Given the description of an element on the screen output the (x, y) to click on. 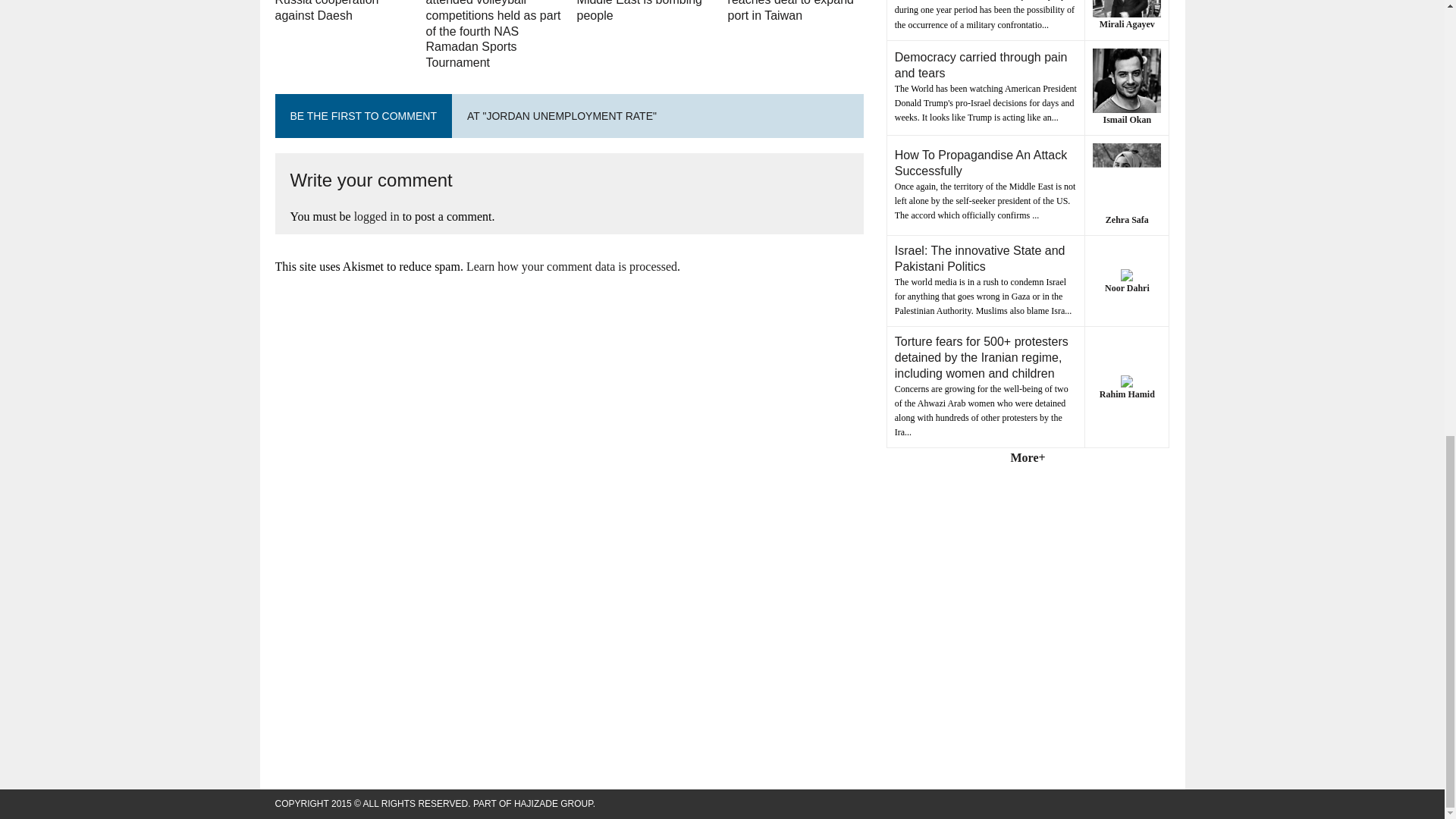
UN, US welcome Turkey-Russia cooperation against Daesh (342, 11)
UN, US welcome Turkey-Russia cooperation against Daesh (342, 11)
